Given the description of an element on the screen output the (x, y) to click on. 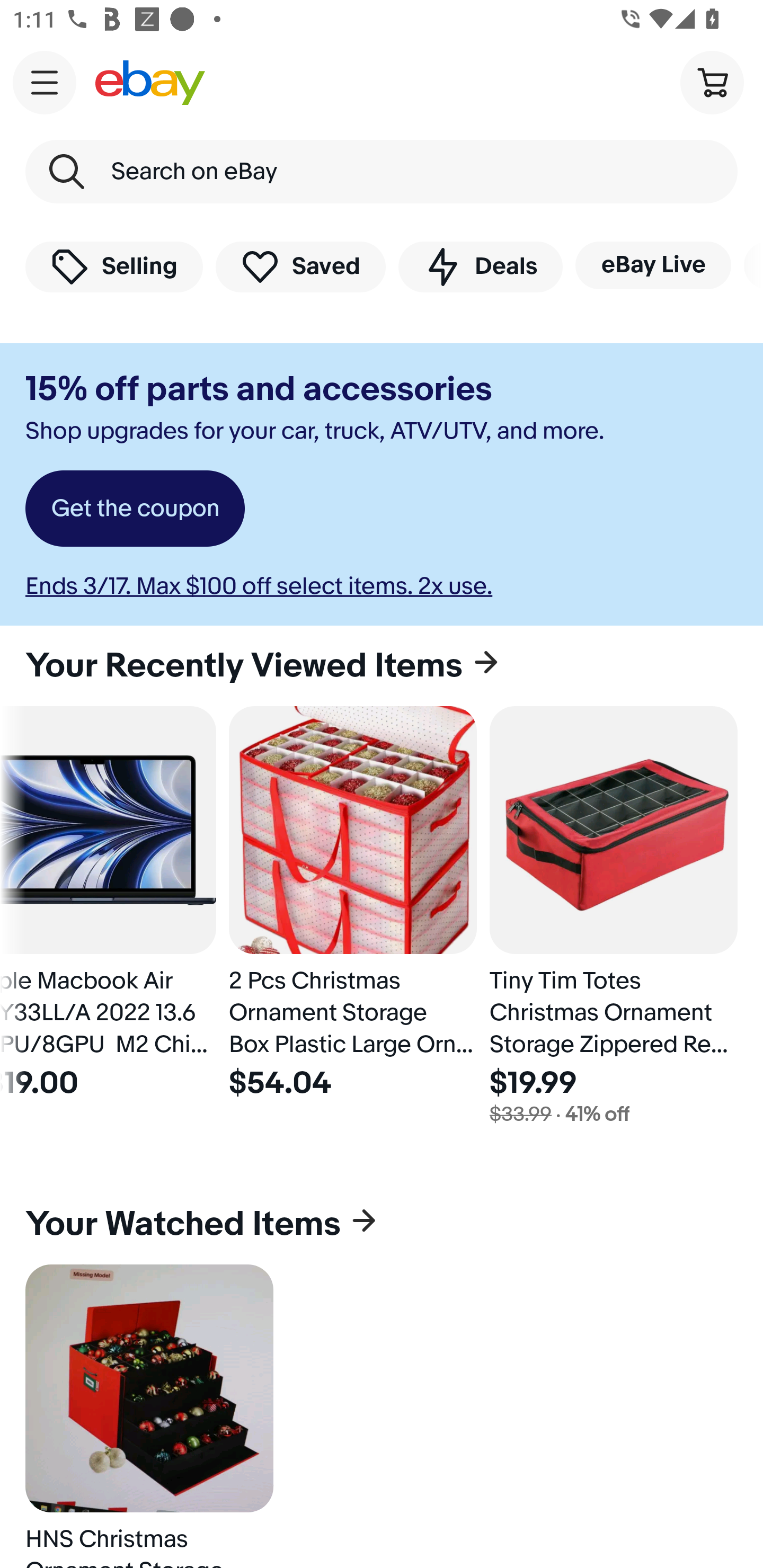
Main navigation, open (44, 82)
Cart button shopping cart (711, 81)
Search on eBay Search Keyword Search on eBay (381, 171)
Search on eBay Search Keyword Search on eBay (381, 171)
Selling (113, 266)
Saved (300, 266)
Deals (480, 266)
eBay Live (652, 264)
15% off parts and accessories (258, 389)
Get the coupon (134, 508)
Ends 3/17. Max $100 off select items. 2x use. (258, 586)
Your Recently Viewed Items   (381, 665)
Your Watched Items   (381, 1223)
